Given the description of an element on the screen output the (x, y) to click on. 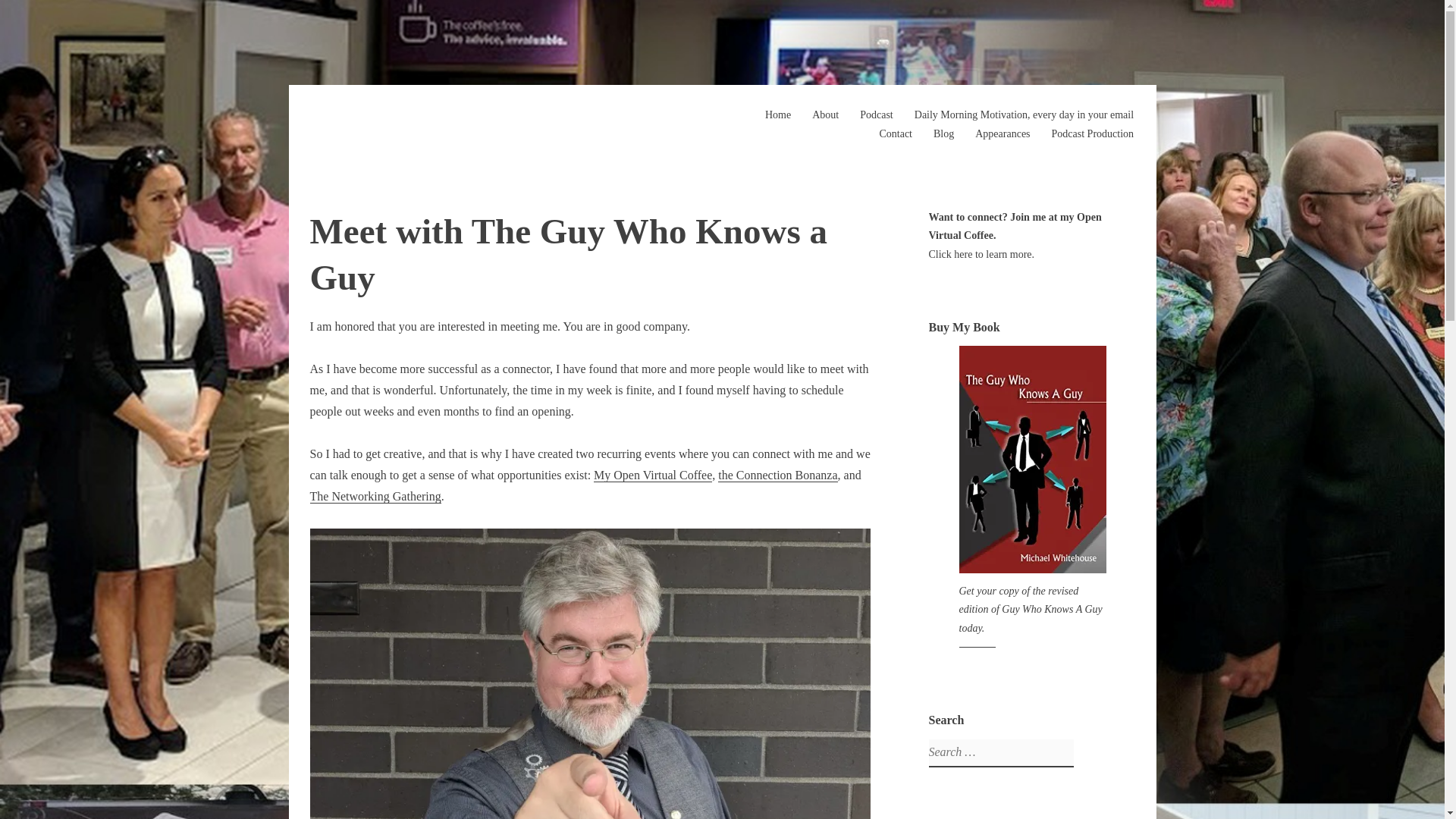
Daily Morning Motivation, every day in your email (1024, 114)
Search (17, 13)
Home (777, 114)
Podcast Production (1092, 132)
The Networking Gathering (374, 496)
Blog (943, 132)
the Connection Bonanza (777, 475)
My Open Virtual Coffee (652, 475)
Contact (895, 132)
About (825, 114)
Appearances (1002, 132)
Podcast (876, 114)
Click here to learn more. (980, 254)
